Given the description of an element on the screen output the (x, y) to click on. 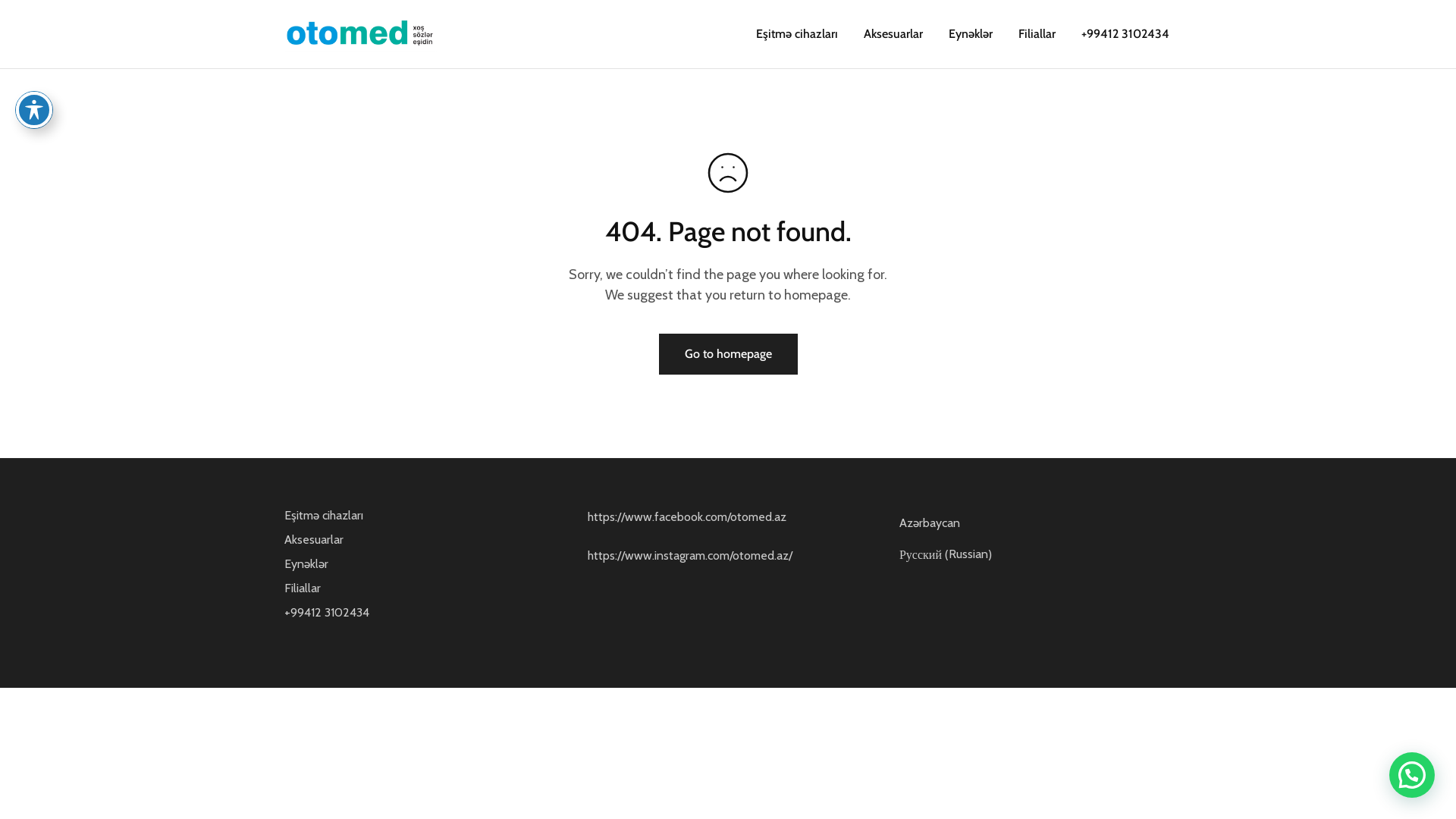
Filiallar Element type: text (302, 587)
+99412 3102434 Element type: text (1125, 33)
Aksesuarlar Element type: text (313, 539)
Filiallar Element type: text (1036, 33)
Aksesuarlar Element type: text (893, 33)
+99412 3102434 Element type: text (326, 612)
Go to homepage Element type: text (727, 353)
https://www.facebook.com/otomed.az Element type: text (686, 516)
https://www.instagram.com/otomed.az/ Element type: text (689, 555)
